Given the description of an element on the screen output the (x, y) to click on. 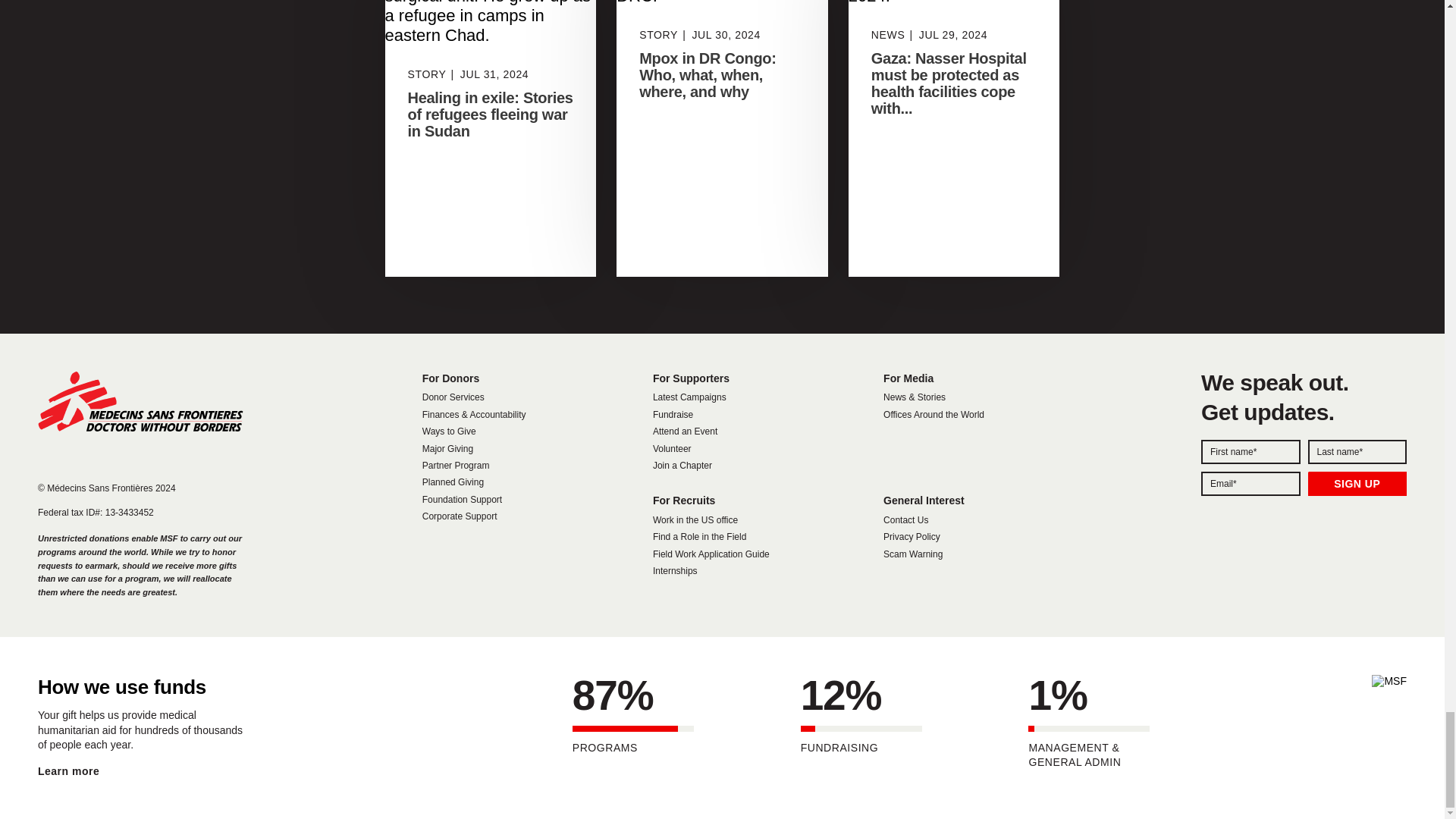
op (1356, 483)
Home (140, 401)
email (1250, 483)
SIGN UP (1356, 483)
